Given the description of an element on the screen output the (x, y) to click on. 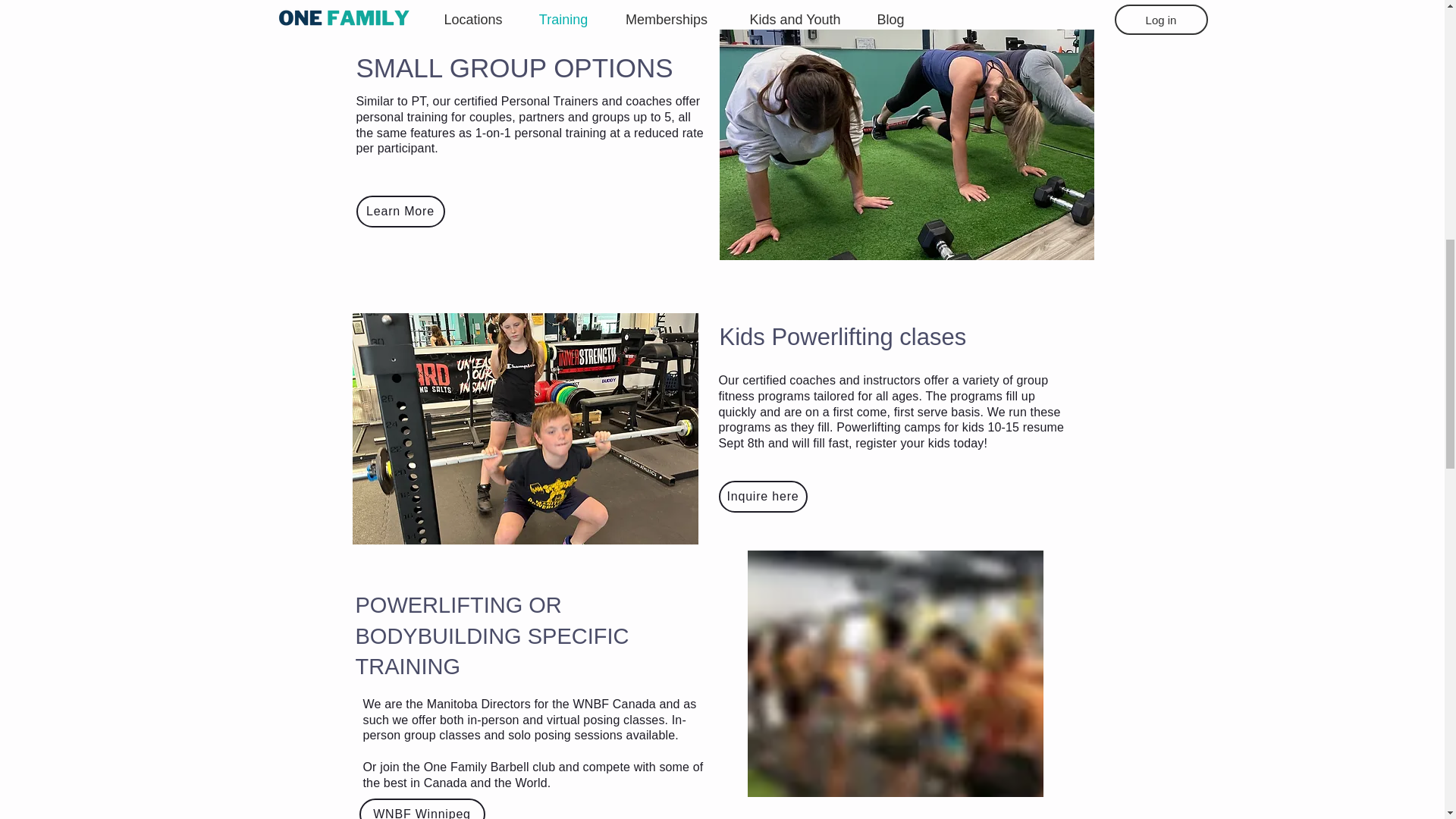
WNBF Winnipeg (421, 808)
Inquire here (763, 496)
Learn More (400, 211)
